Given the description of an element on the screen output the (x, y) to click on. 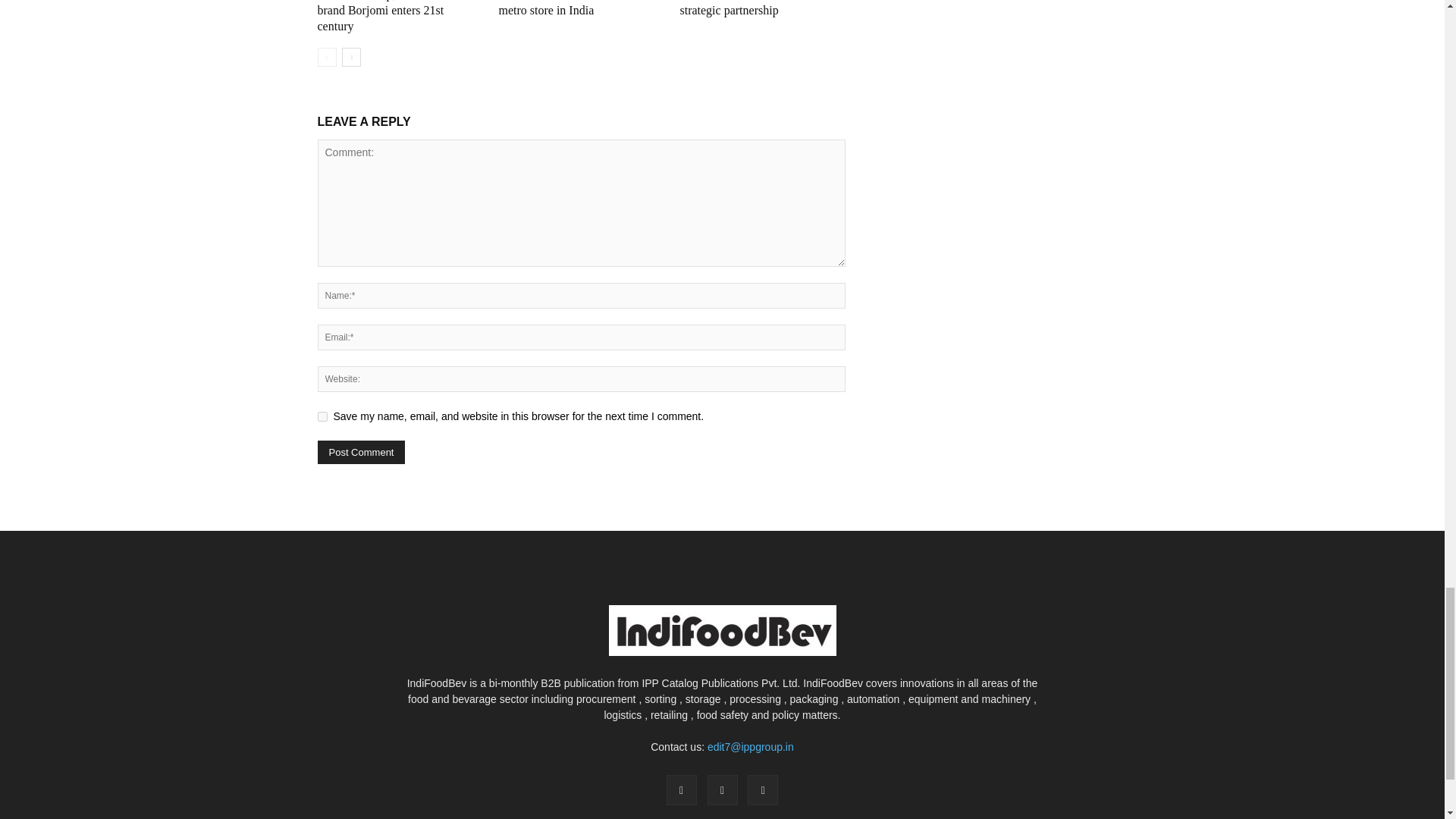
yes (321, 416)
Post Comment (360, 452)
